Given the description of an element on the screen output the (x, y) to click on. 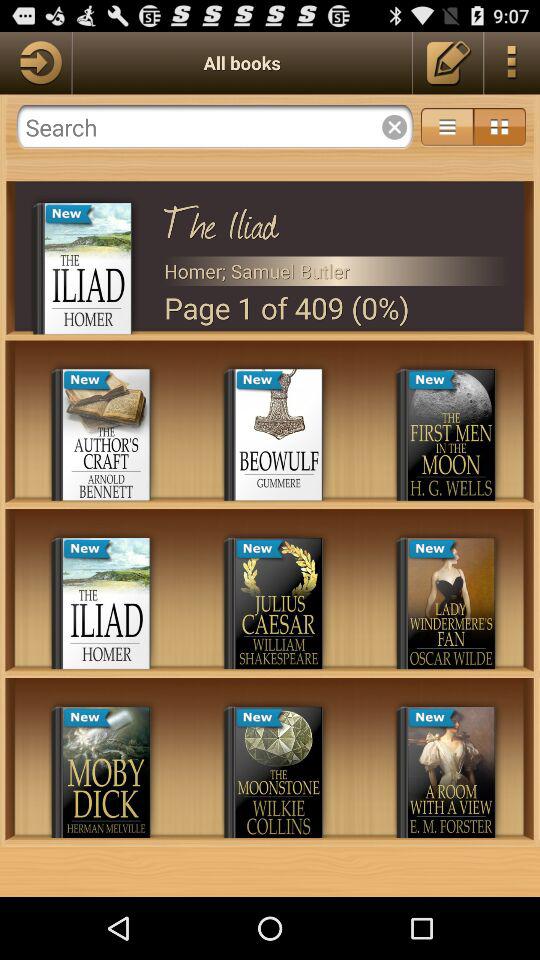
choose the icon above the iliad (499, 126)
